Given the description of an element on the screen output the (x, y) to click on. 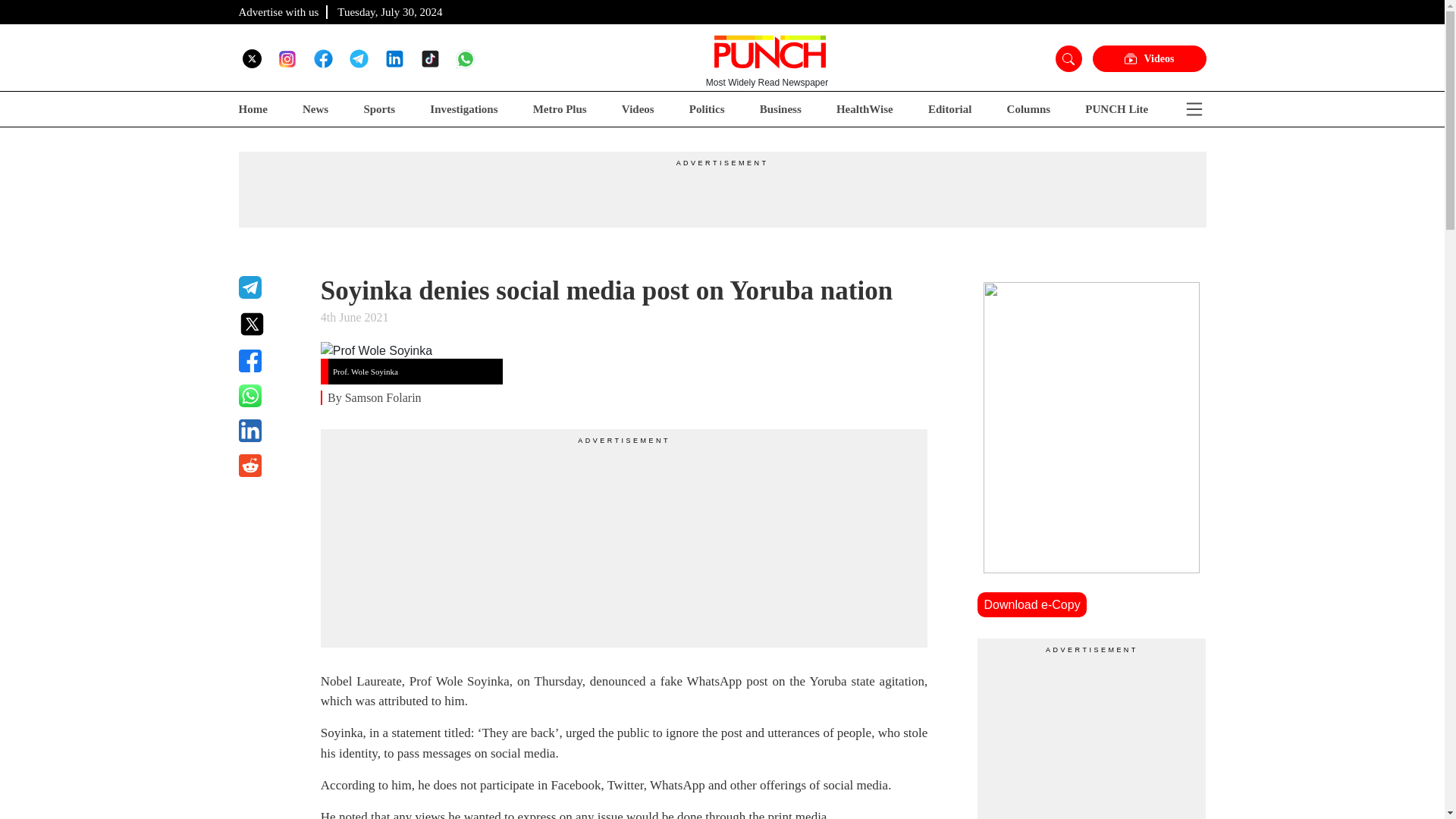
HealthWise (864, 109)
Follow Us on Facebook (323, 58)
PUNCH Lite (1116, 109)
Columns (1029, 109)
Advertise with us (278, 11)
Videos (637, 109)
Investigations (463, 109)
Share on Reddit (269, 465)
Share on Linkedin (269, 430)
Follow Our Channel on Telegram (358, 58)
Editorial (950, 109)
Follow us on our Whatsapp Channel (465, 57)
Share on Telegram (269, 287)
Follow Us on X (252, 58)
Home (252, 109)
